Given the description of an element on the screen output the (x, y) to click on. 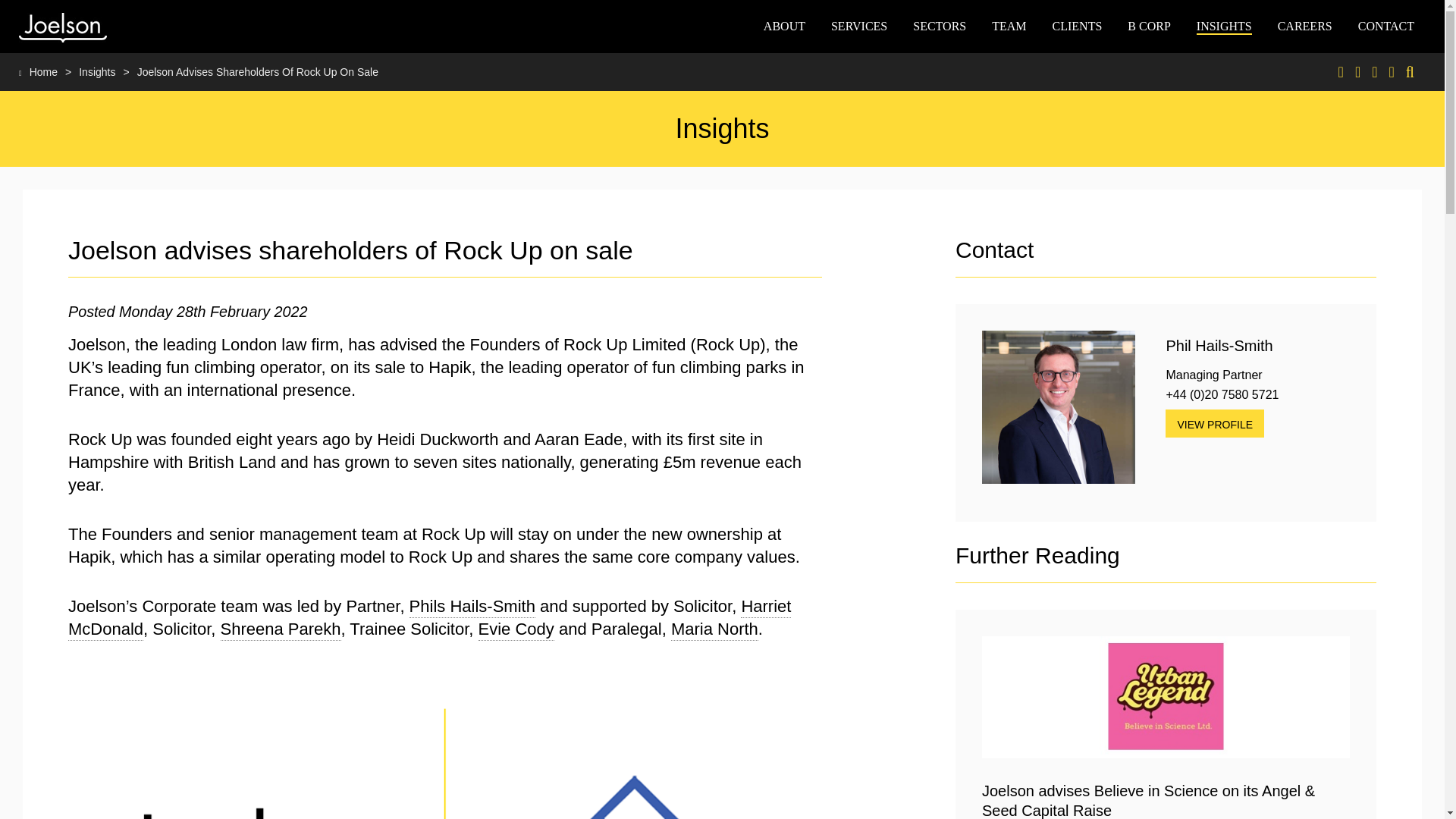
TEAM (1008, 25)
CONTACT (1385, 25)
B CORP (1148, 25)
CLIENTS (1077, 25)
SERVICES (858, 25)
Insights (93, 71)
ABOUT (783, 25)
CAREERS (1305, 25)
INSIGHTS (1224, 25)
SECTORS (939, 25)
